Given the description of an element on the screen output the (x, y) to click on. 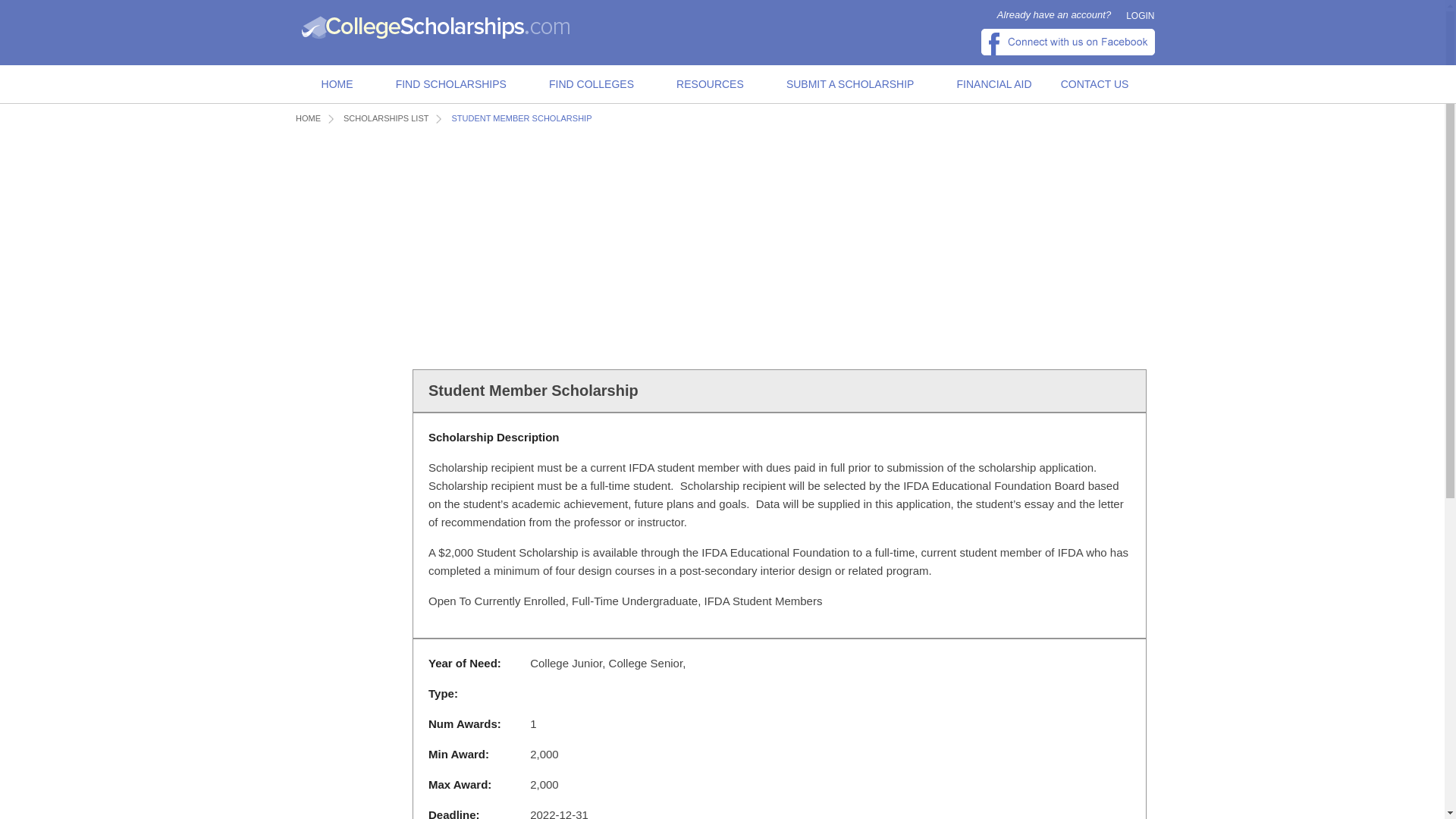
FIND COLLEGES (591, 84)
FIND SCHOLARSHIPS (450, 84)
CONTACT US (1095, 84)
RESOURCES (709, 84)
HOME (336, 84)
SUBMIT A SCHOLARSHIP (850, 84)
LOGIN (1139, 15)
FINANCIAL AID (994, 84)
Advertisement (571, 245)
